Given the description of an element on the screen output the (x, y) to click on. 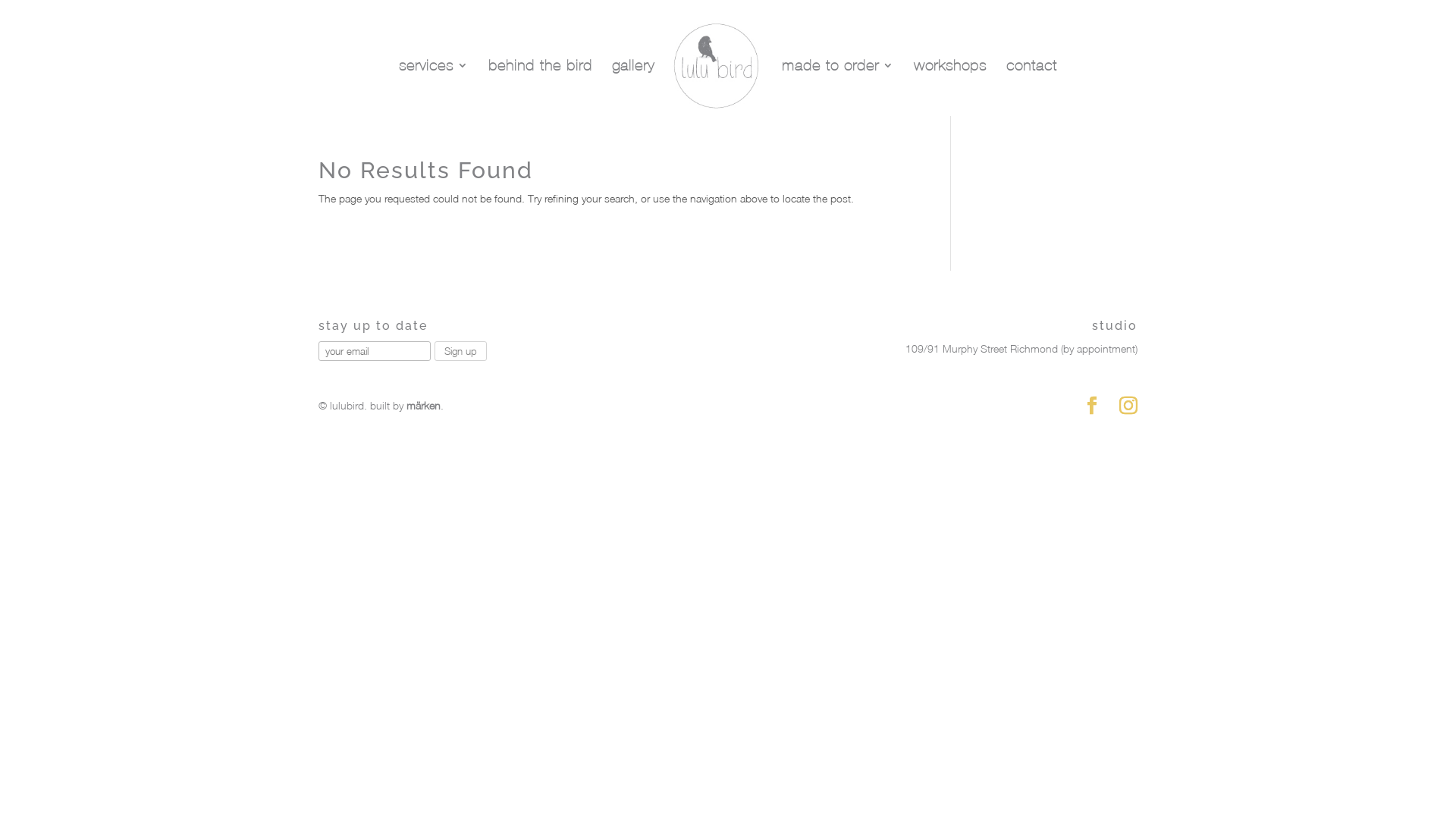
behind the bird Element type: text (540, 87)
contact Element type: text (1031, 87)
workshops Element type: text (949, 87)
made to order Element type: text (837, 87)
gallery Element type: text (632, 87)
Sign up Element type: text (460, 350)
services Element type: text (433, 87)
